Given the description of an element on the screen output the (x, y) to click on. 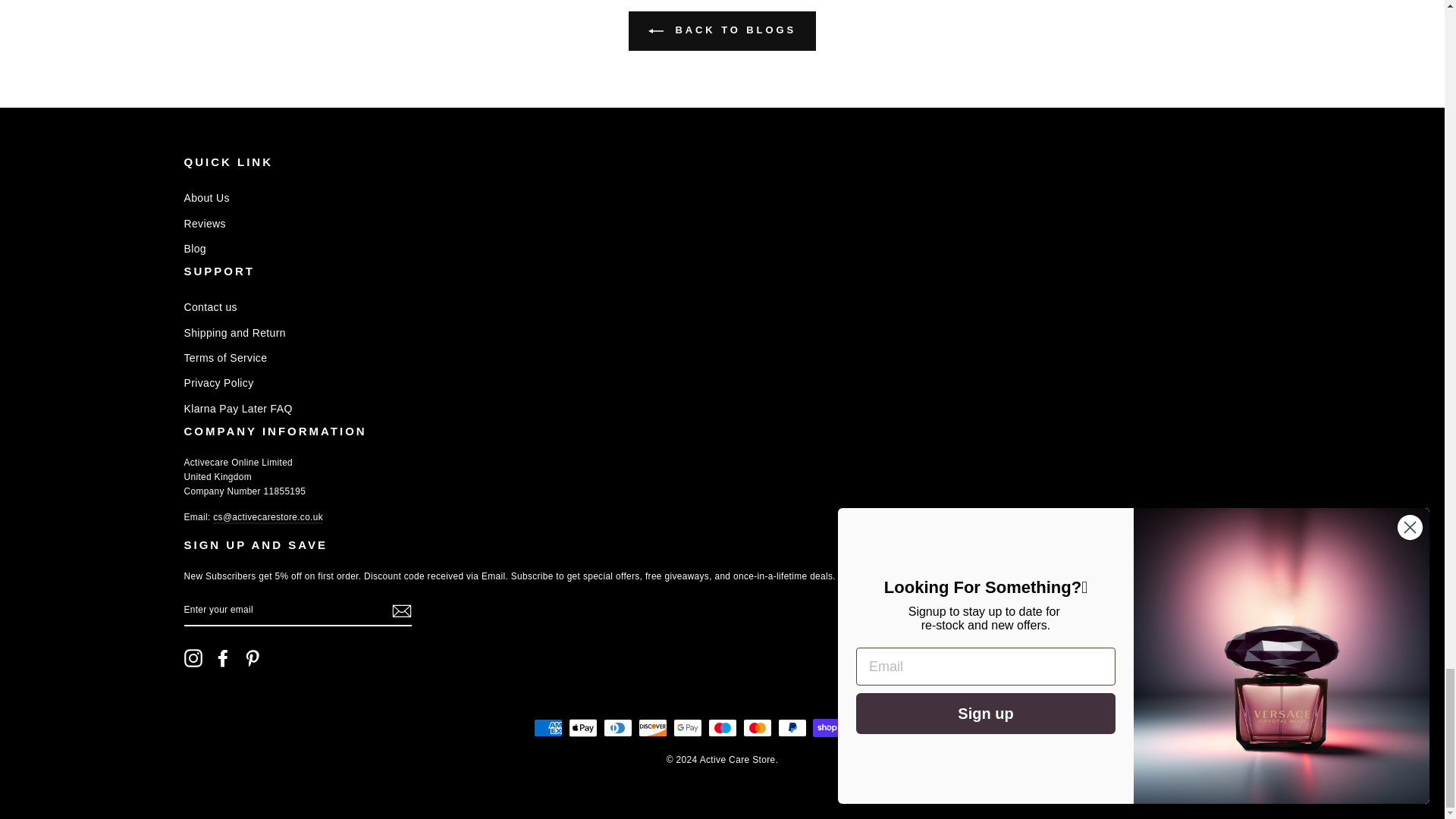
Apple Pay (582, 728)
American Express (548, 728)
Google Pay (686, 728)
Shop Pay (826, 728)
Active Care Store on Pinterest (251, 658)
Maestro (721, 728)
Active Care Store on Instagram (192, 658)
PayPal (791, 728)
Diners Club (617, 728)
Active Care Store on Facebook (222, 658)
Discover (652, 728)
Mastercard (756, 728)
